Given the description of an element on the screen output the (x, y) to click on. 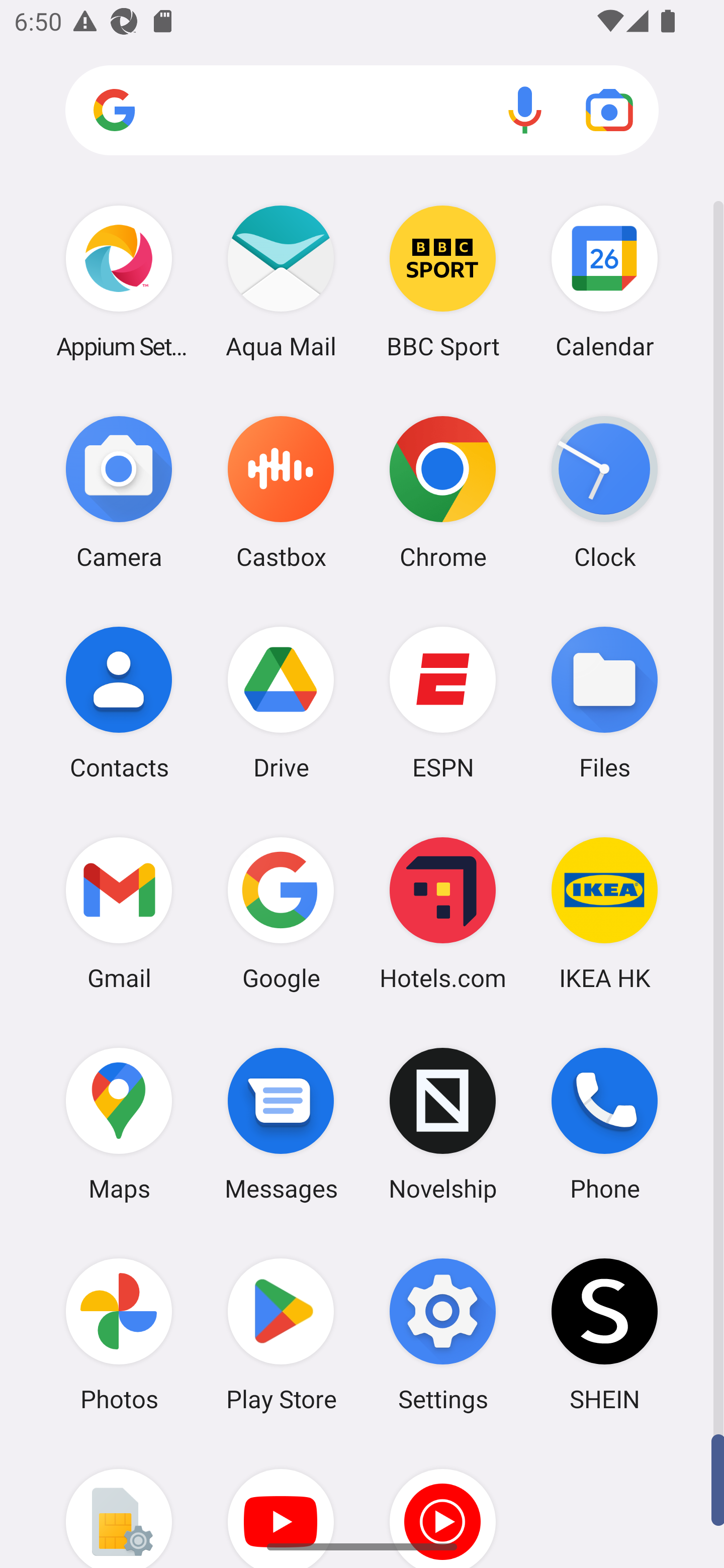
Search apps, web and more (361, 110)
Voice search (524, 109)
Google Lens (608, 109)
Appium Settings (118, 281)
Aqua Mail (280, 281)
BBC Sport (443, 281)
Calendar (604, 281)
Camera (118, 492)
Castbox (280, 492)
Chrome (443, 492)
Clock (604, 492)
Contacts (118, 702)
Drive (280, 702)
ESPN (443, 702)
Files (604, 702)
Gmail (118, 913)
Google (280, 913)
Hotels.com (443, 913)
IKEA HK (604, 913)
Maps (118, 1124)
Messages (280, 1124)
Novelship (443, 1124)
Phone (604, 1124)
Photos (118, 1334)
Play Store (280, 1334)
Settings (443, 1334)
SHEIN (604, 1334)
TMoble (118, 1503)
YouTube (280, 1503)
YT Music (443, 1503)
